Given the description of an element on the screen output the (x, y) to click on. 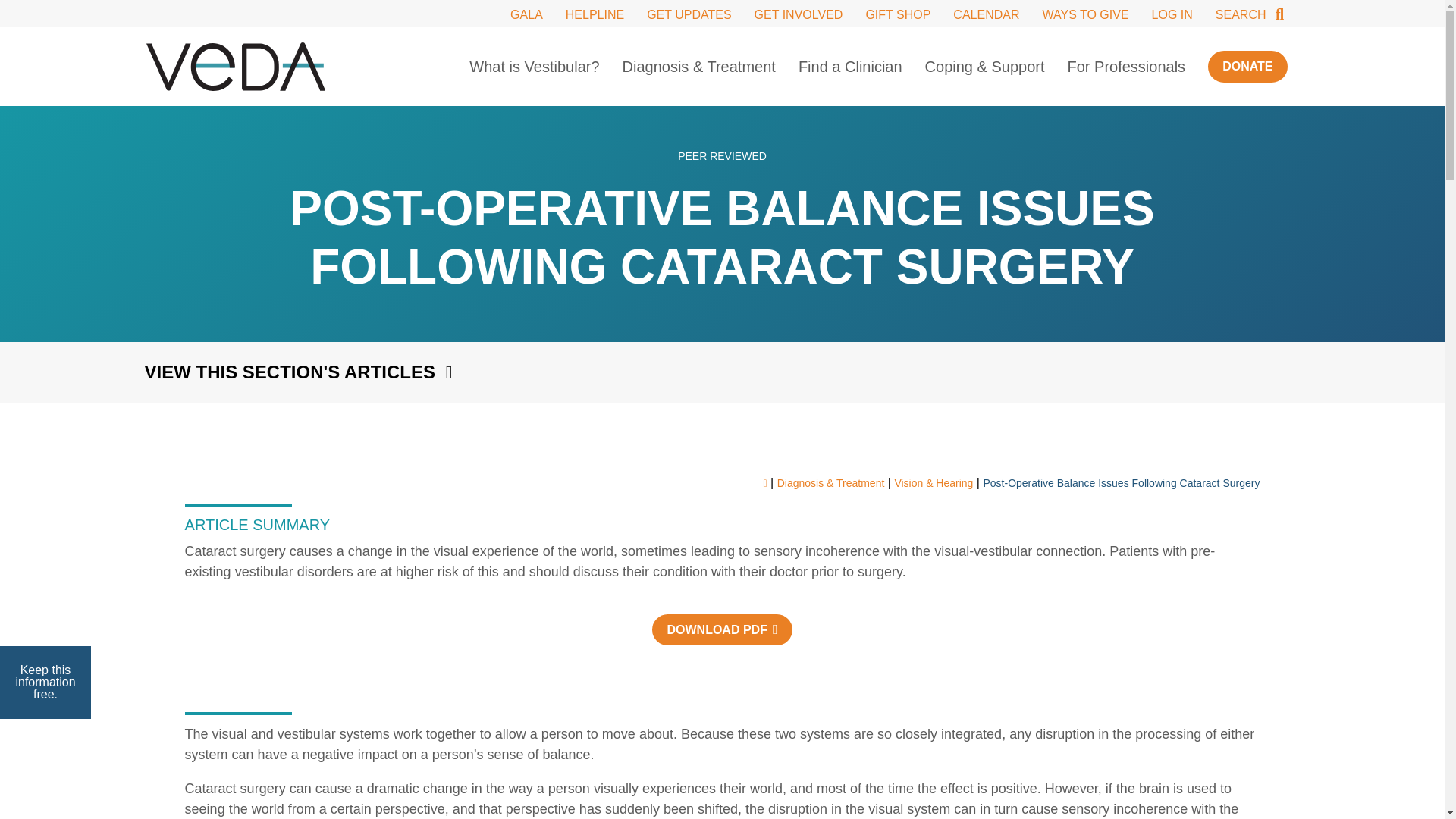
What is Vestibular? (533, 66)
Find a Clinician (849, 66)
For Professionals (1126, 66)
WAYS TO GIVE (1085, 13)
SEARCH (1251, 13)
GIFT SHOP (897, 13)
DOWNLOAD PDF (722, 629)
DONATE (1247, 65)
Search (1251, 13)
LOG IN (1171, 13)
Keep this information free. (45, 682)
GET INVOLVED (798, 13)
Home (234, 66)
GALA (527, 13)
CALENDAR (986, 13)
